Given the description of an element on the screen output the (x, y) to click on. 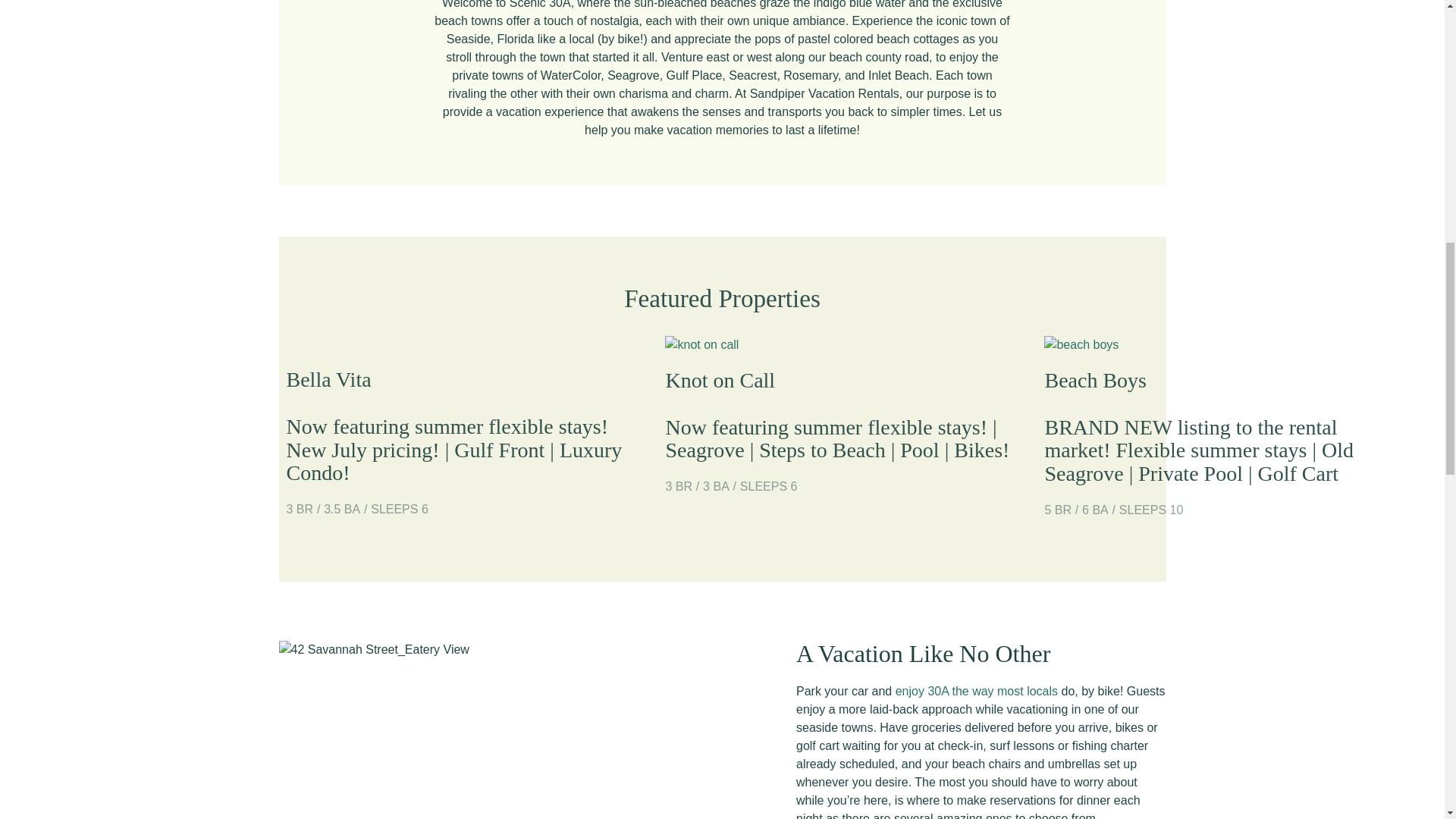
enjoy 30A the way most locals (976, 690)
